Given the description of an element on the screen output the (x, y) to click on. 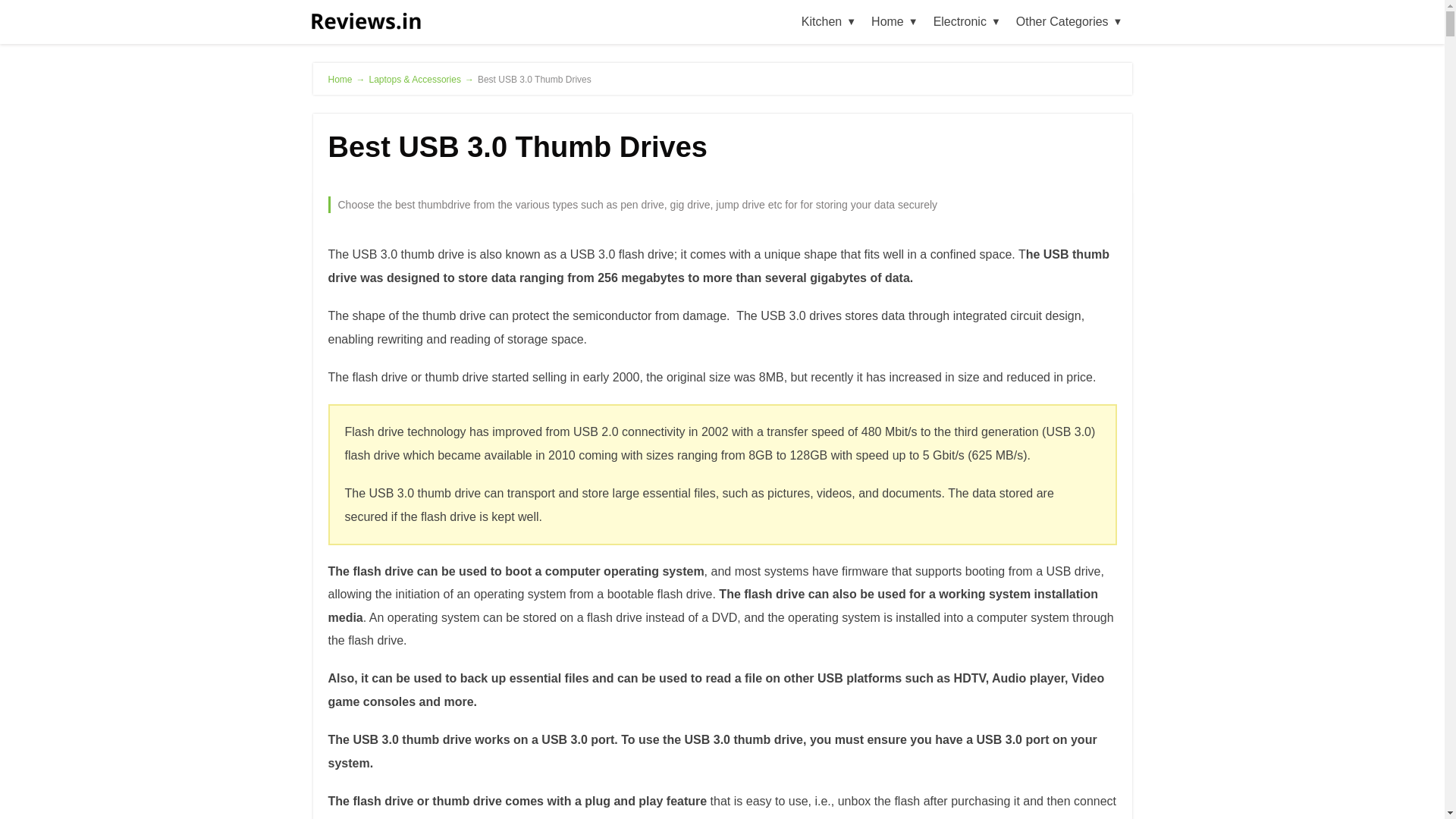
Electronic (967, 21)
Other Categories (1070, 21)
Home (894, 21)
Kitchen (828, 21)
